Given the description of an element on the screen output the (x, y) to click on. 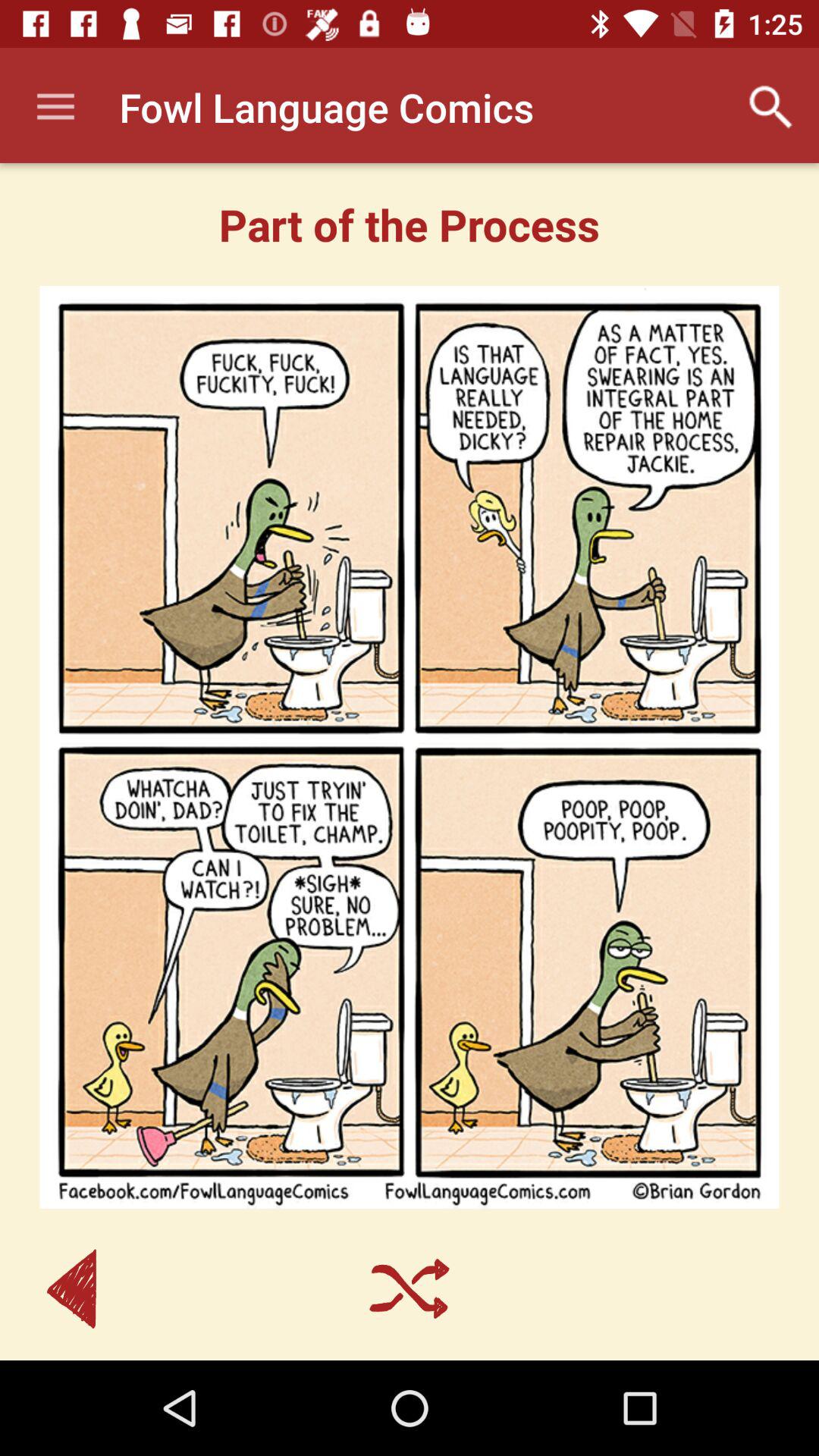
tap item at the top right corner (771, 107)
